Given the description of an element on the screen output the (x, y) to click on. 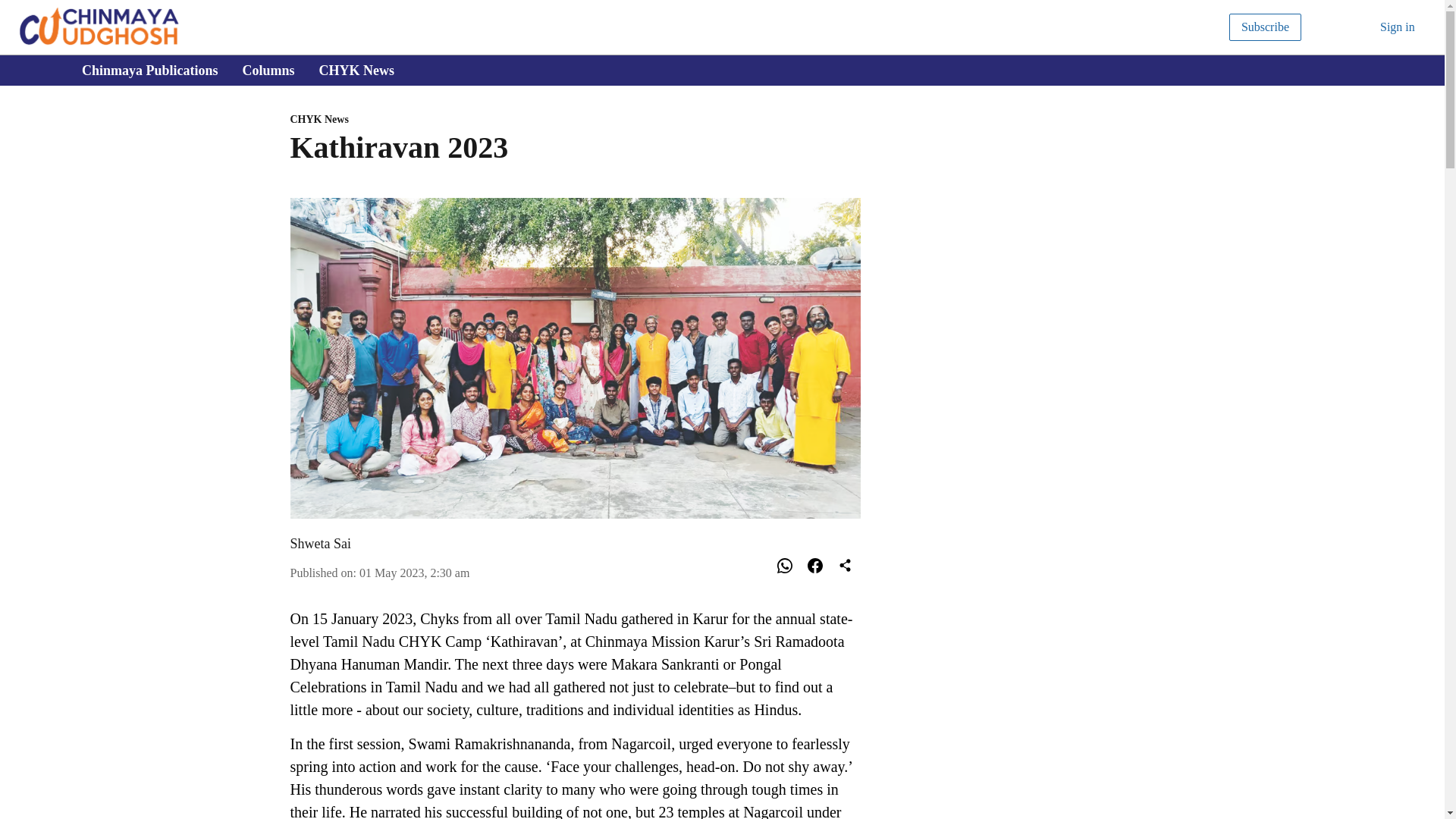
2023-04-30 18:30 (413, 571)
CHYK News (356, 70)
CHYK News (725, 70)
Shweta Sai (574, 119)
